Given the description of an element on the screen output the (x, y) to click on. 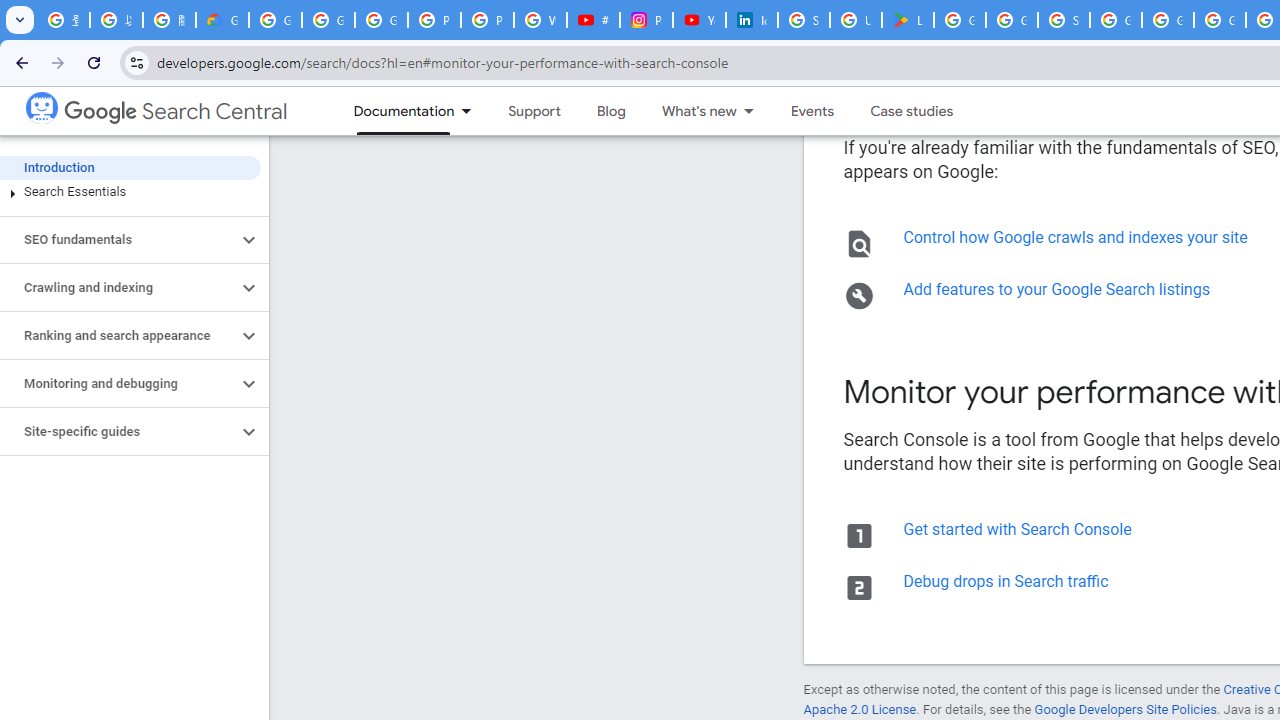
Sign in - Google Accounts (803, 20)
Dropdown menu for What's new (754, 111)
Apache 2.0 License (859, 709)
Google Workspace - Specific Terms (1011, 20)
Monitoring and debugging (118, 384)
Site-specific guides (118, 431)
Events (811, 111)
Ranking and search appearance (118, 335)
What's new (689, 111)
Documentation, selected (394, 111)
Crawling and indexing (118, 287)
YouTube Culture & Trends - On The Rise: Handcam Videos (699, 20)
